Given the description of an element on the screen output the (x, y) to click on. 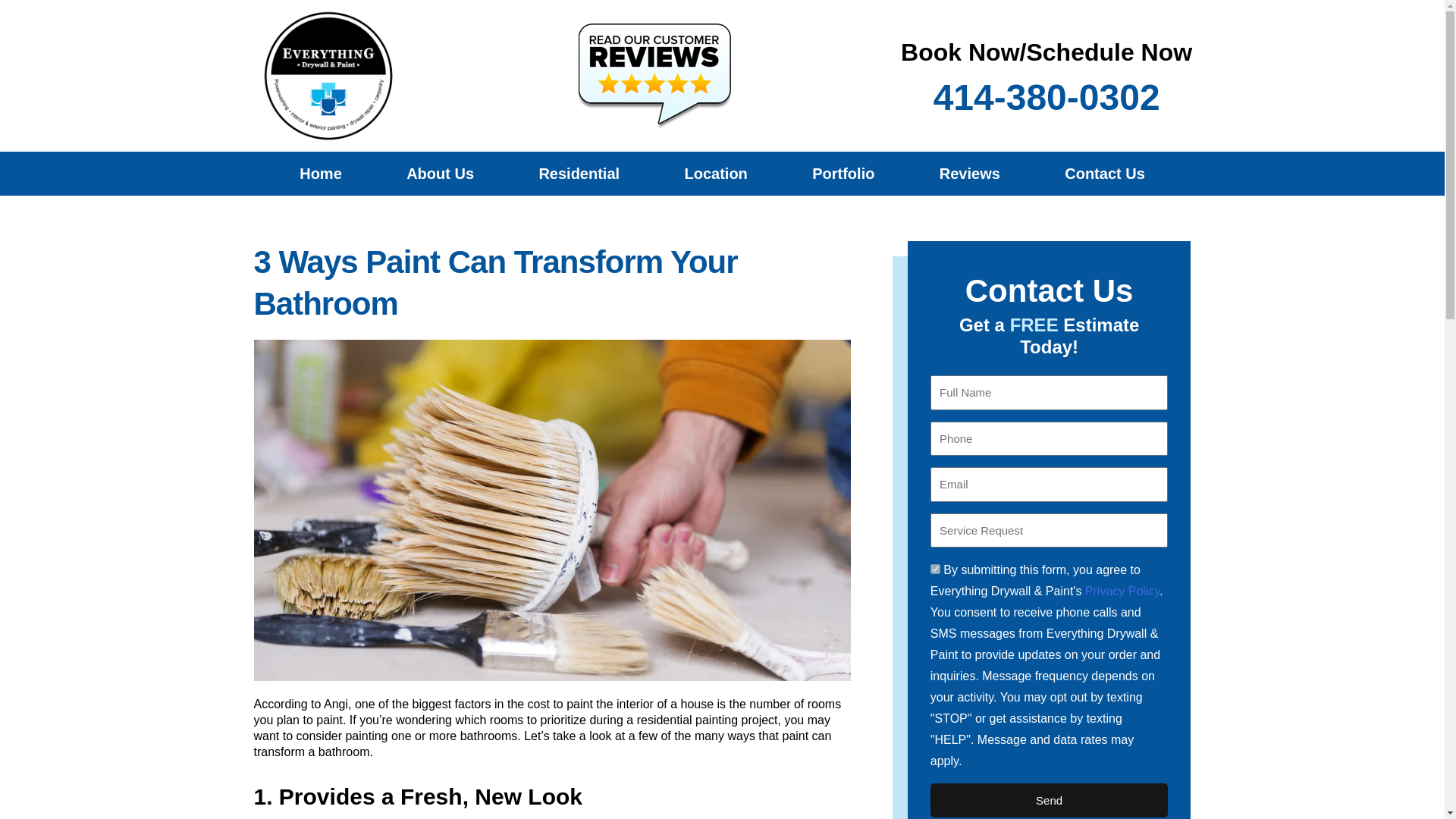
on (935, 569)
About Us (439, 173)
Residential (579, 173)
Home (320, 173)
Reviews (969, 173)
414-380-0302 (1046, 96)
Location (716, 173)
Contact Us (1104, 173)
Portfolio (843, 173)
